Given the description of an element on the screen output the (x, y) to click on. 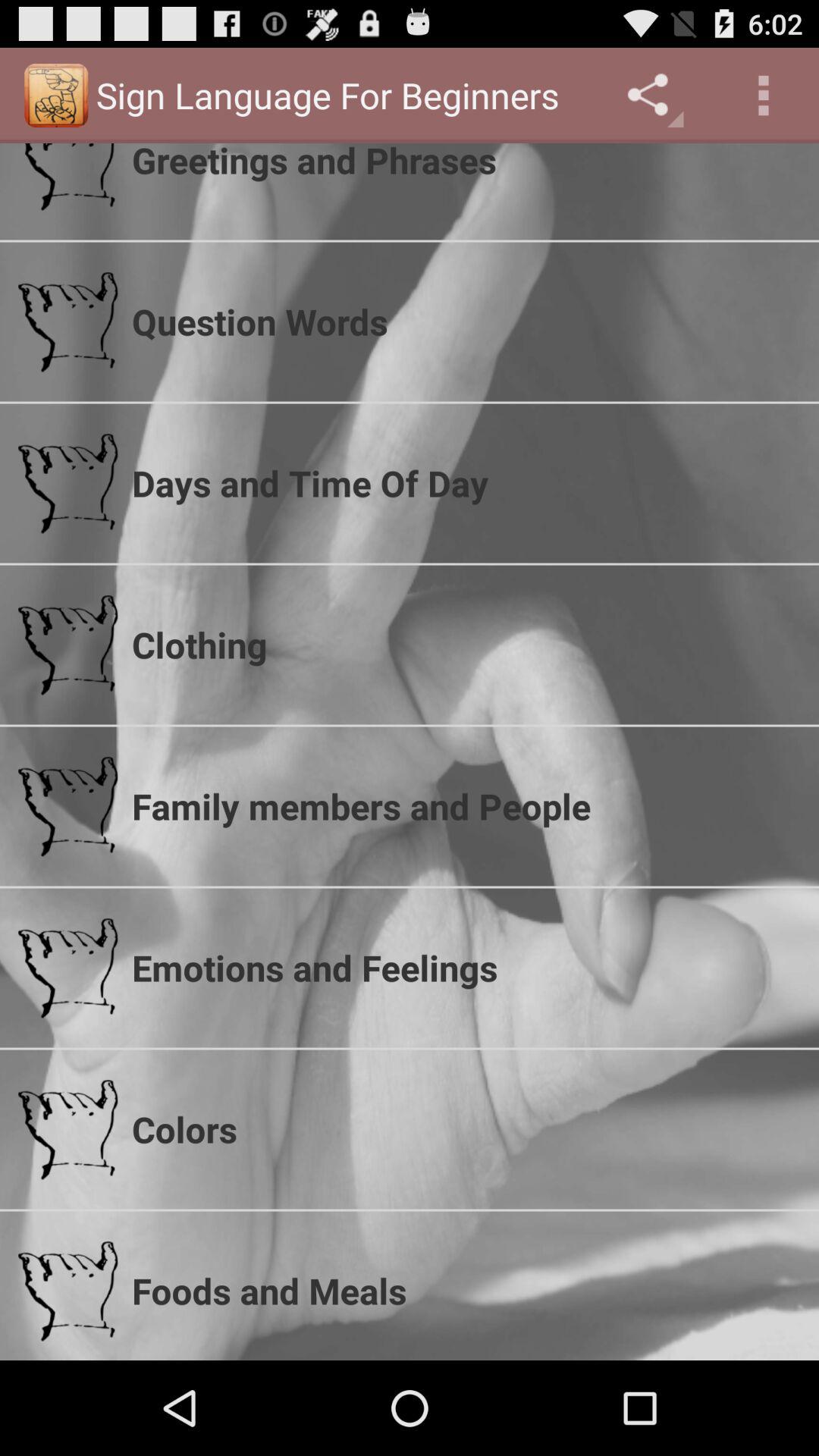
choose the foods and meals (465, 1290)
